Given the description of an element on the screen output the (x, y) to click on. 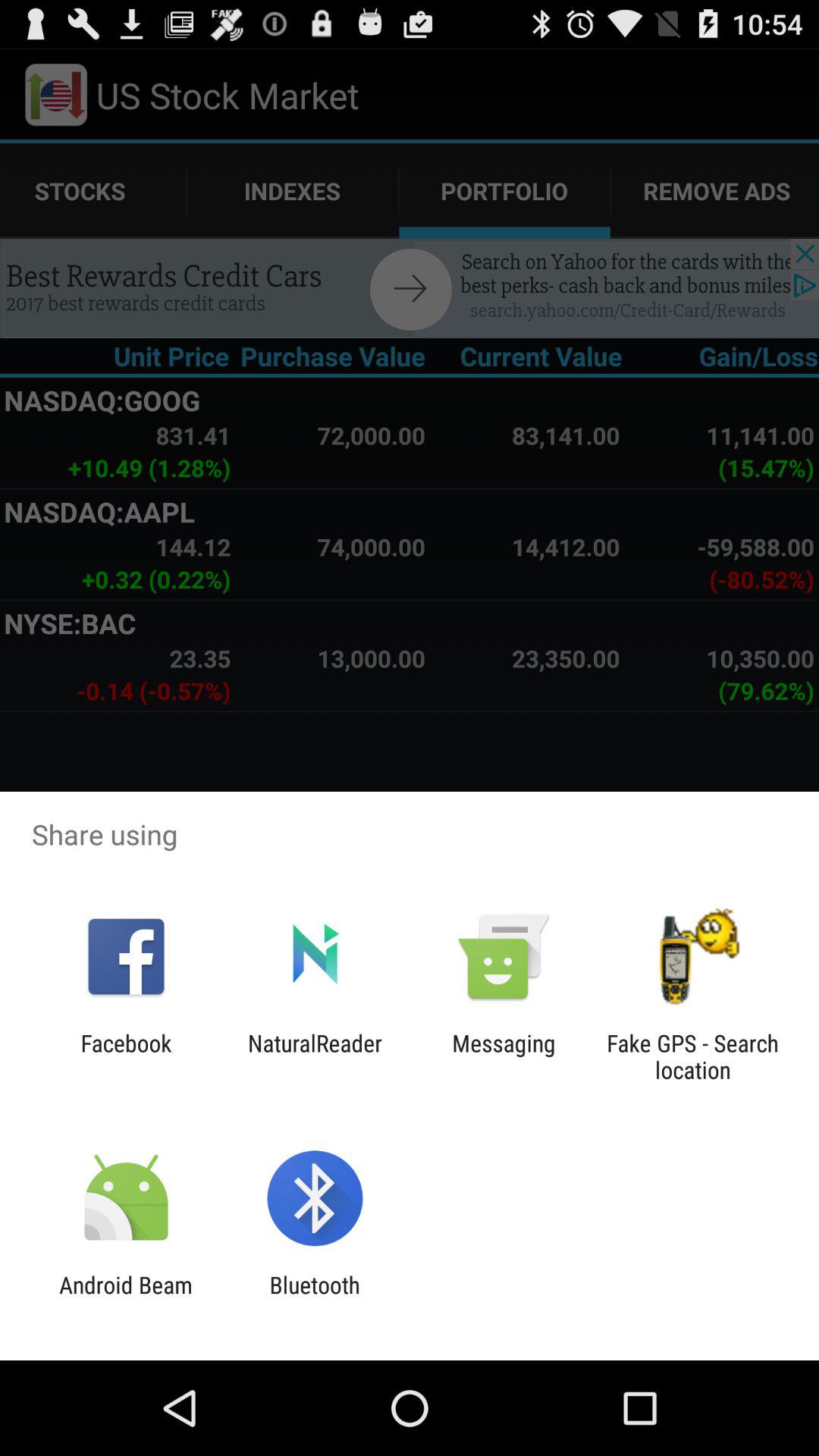
tap the messaging item (503, 1056)
